Given the description of an element on the screen output the (x, y) to click on. 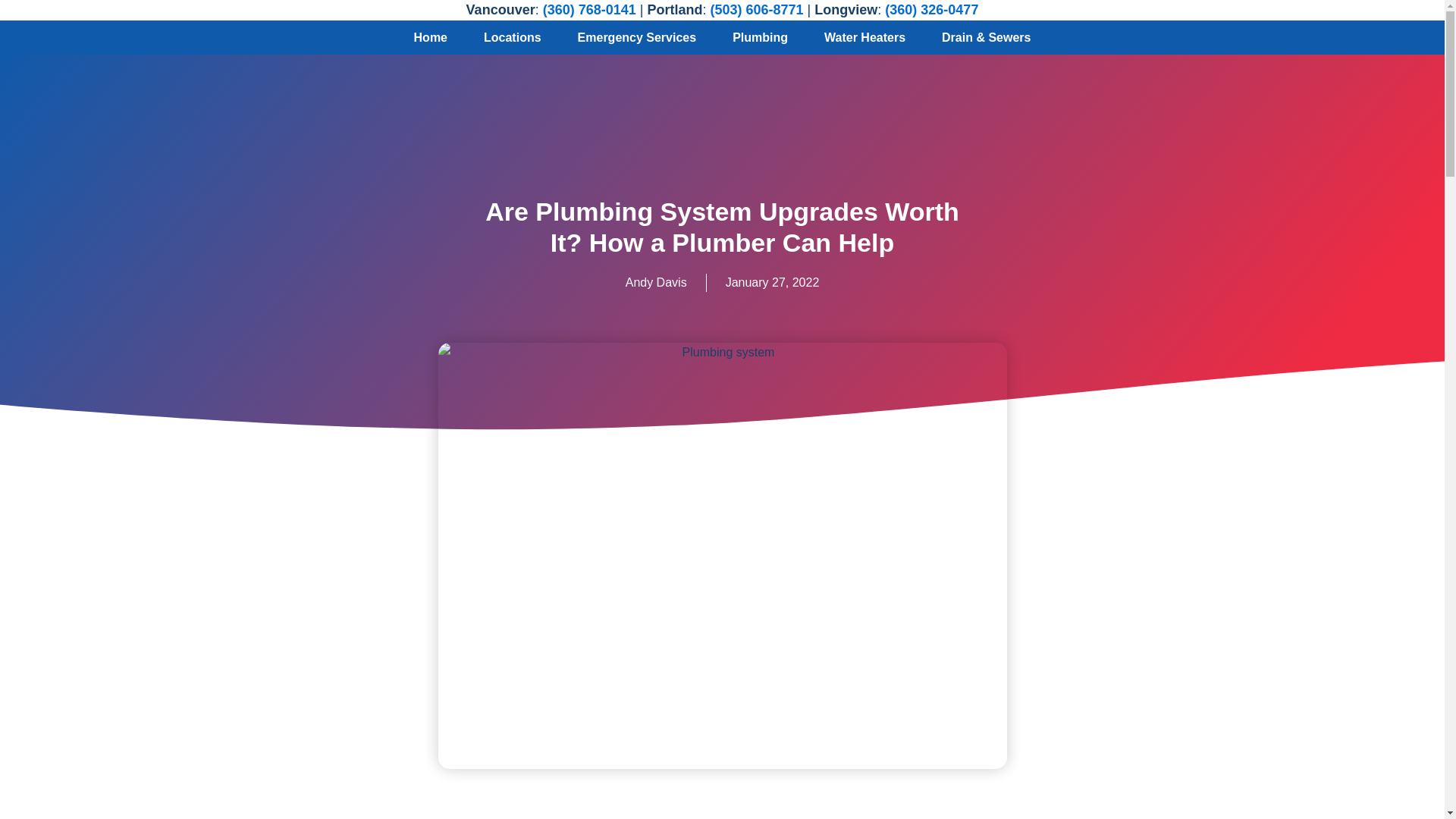
Plumbing (760, 37)
Water Heaters (864, 37)
Emergency Services (636, 37)
Home (430, 37)
Locations (512, 37)
